Given the description of an element on the screen output the (x, y) to click on. 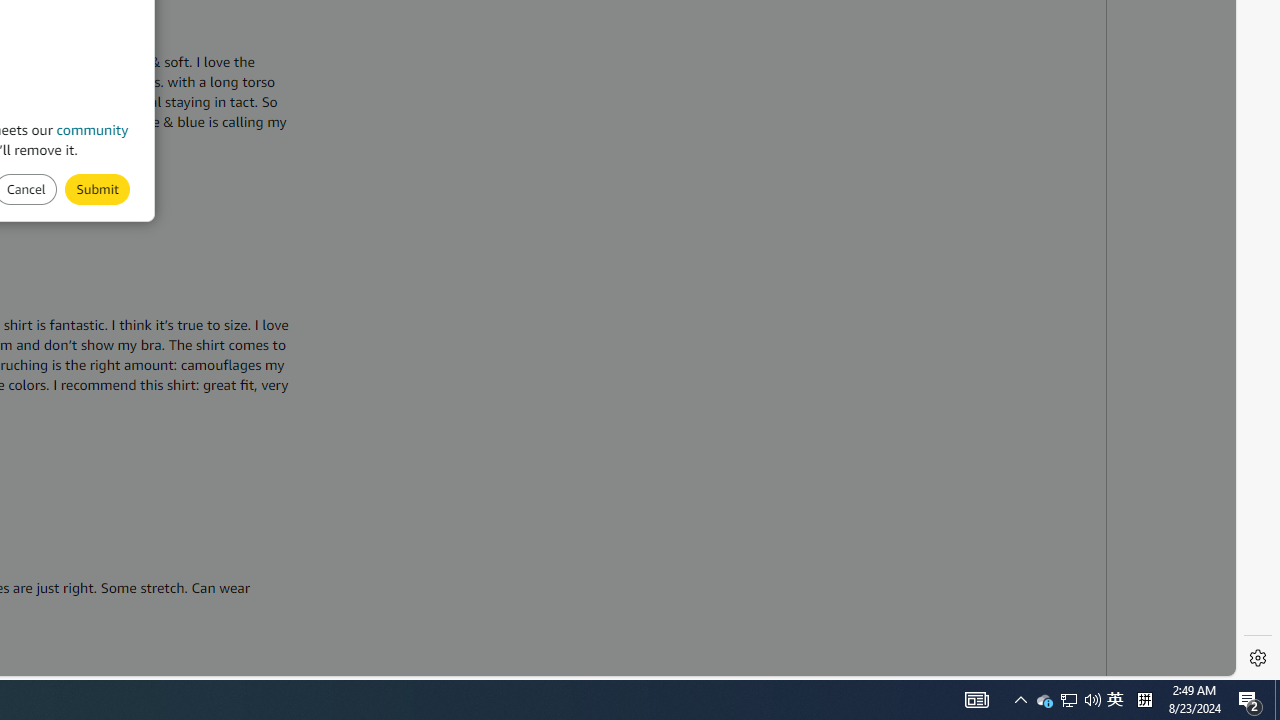
Mark this review for abuse BUTTON (97, 188)
